Given the description of an element on the screen output the (x, y) to click on. 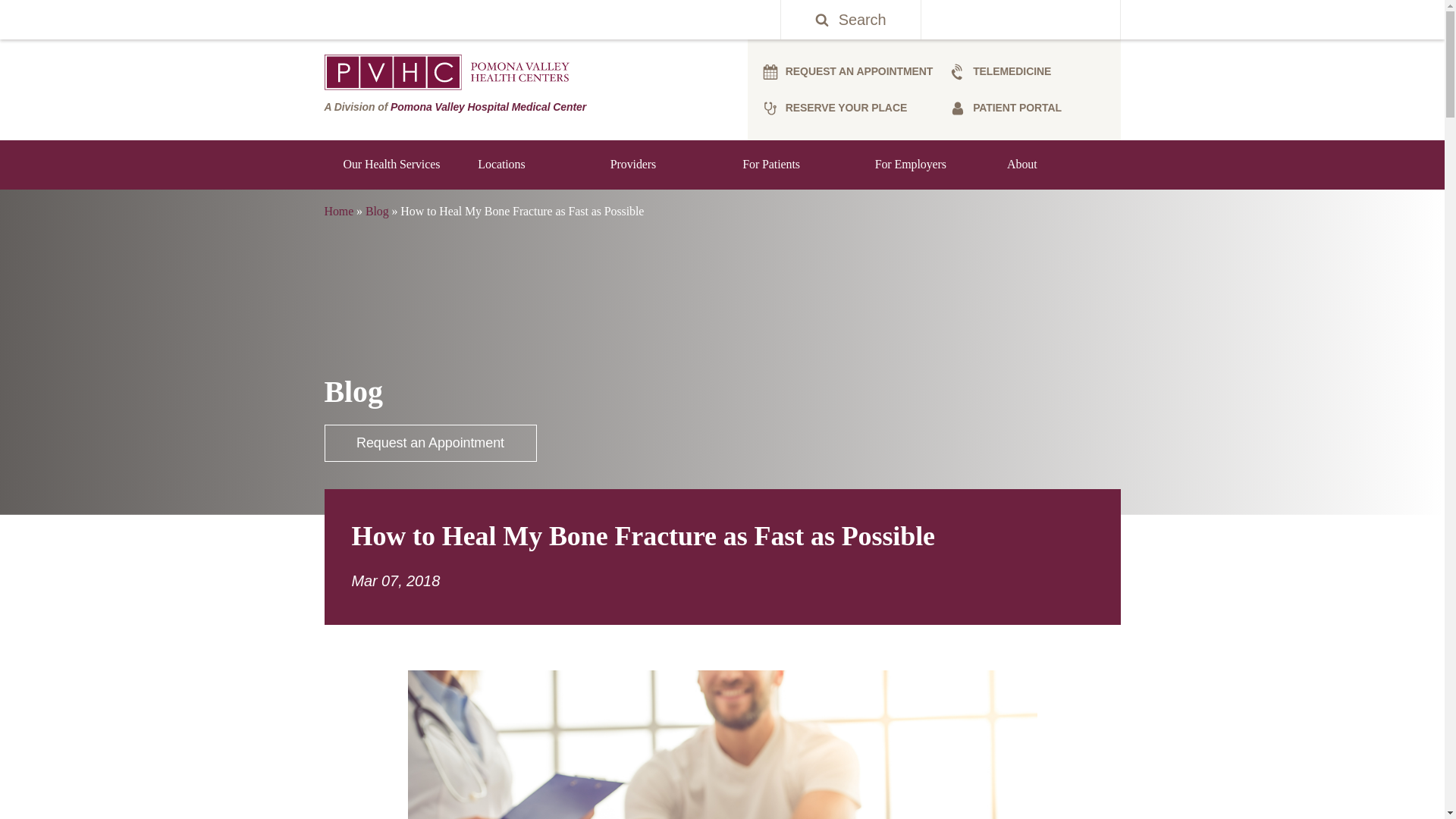
TELEMEDICINE (1000, 71)
Providers (657, 164)
RESERVE YOUR PLACE (834, 107)
Search (850, 19)
REQUEST AN APPOINTMENT (847, 71)
Locations (524, 164)
For Patients (789, 164)
PATIENT PORTAL (1005, 107)
Our Health Services (392, 164)
